Given the description of an element on the screen output the (x, y) to click on. 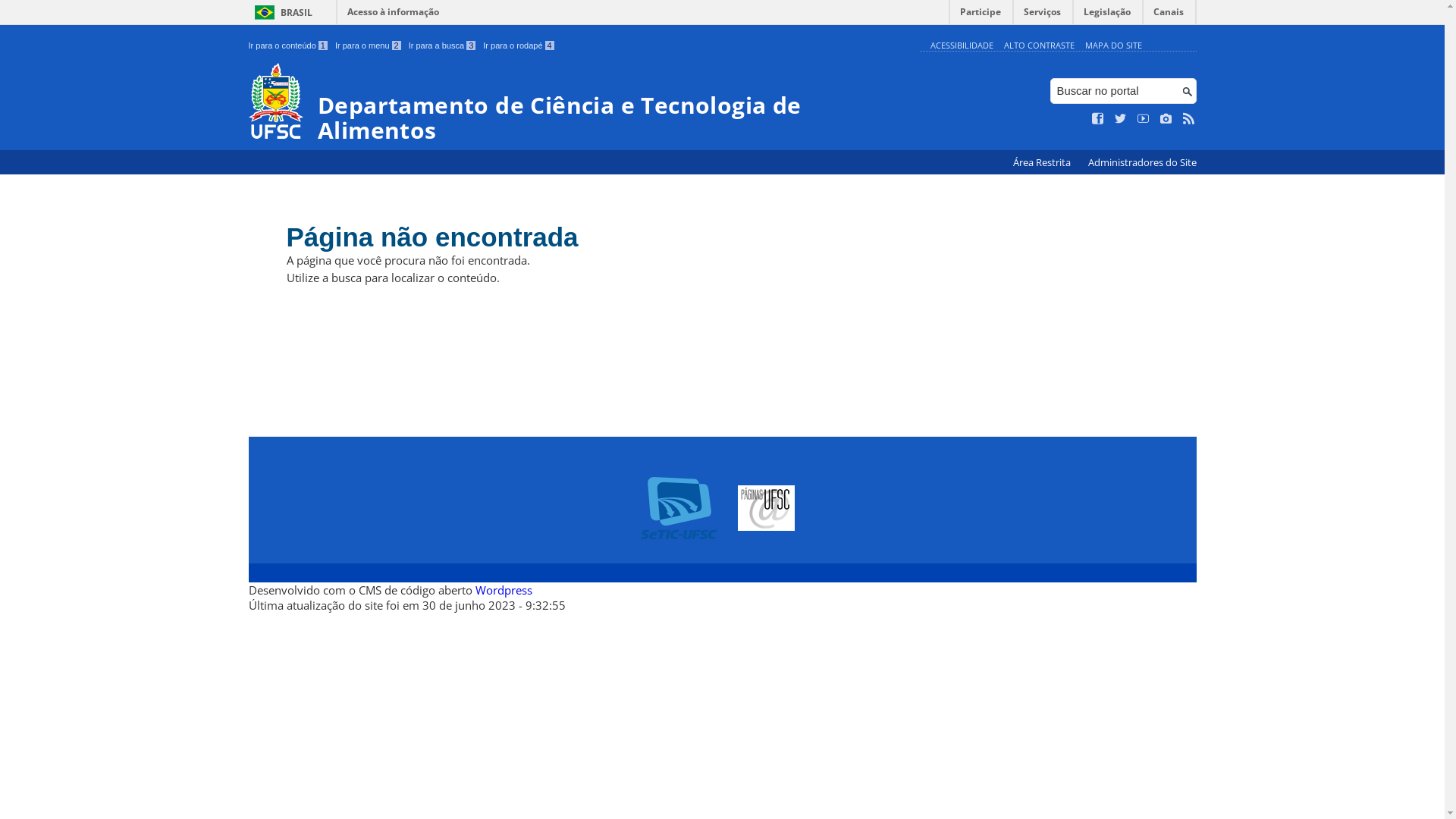
ACESSIBILIDADE Element type: text (960, 44)
Administradores do Site Element type: text (1141, 162)
Ir para o menu 2 Element type: text (368, 45)
Wordpress Element type: text (502, 589)
BRASIL Element type: text (280, 12)
Participe Element type: text (980, 15)
ALTO CONTRASTE Element type: text (1039, 44)
Siga no Twitter Element type: hover (1120, 118)
Curta no Facebook Element type: hover (1098, 118)
Ir para a busca 3 Element type: text (442, 45)
MAPA DO SITE Element type: text (1112, 44)
Canais Element type: text (1169, 15)
Veja no Instagram Element type: hover (1166, 118)
